Given the description of an element on the screen output the (x, y) to click on. 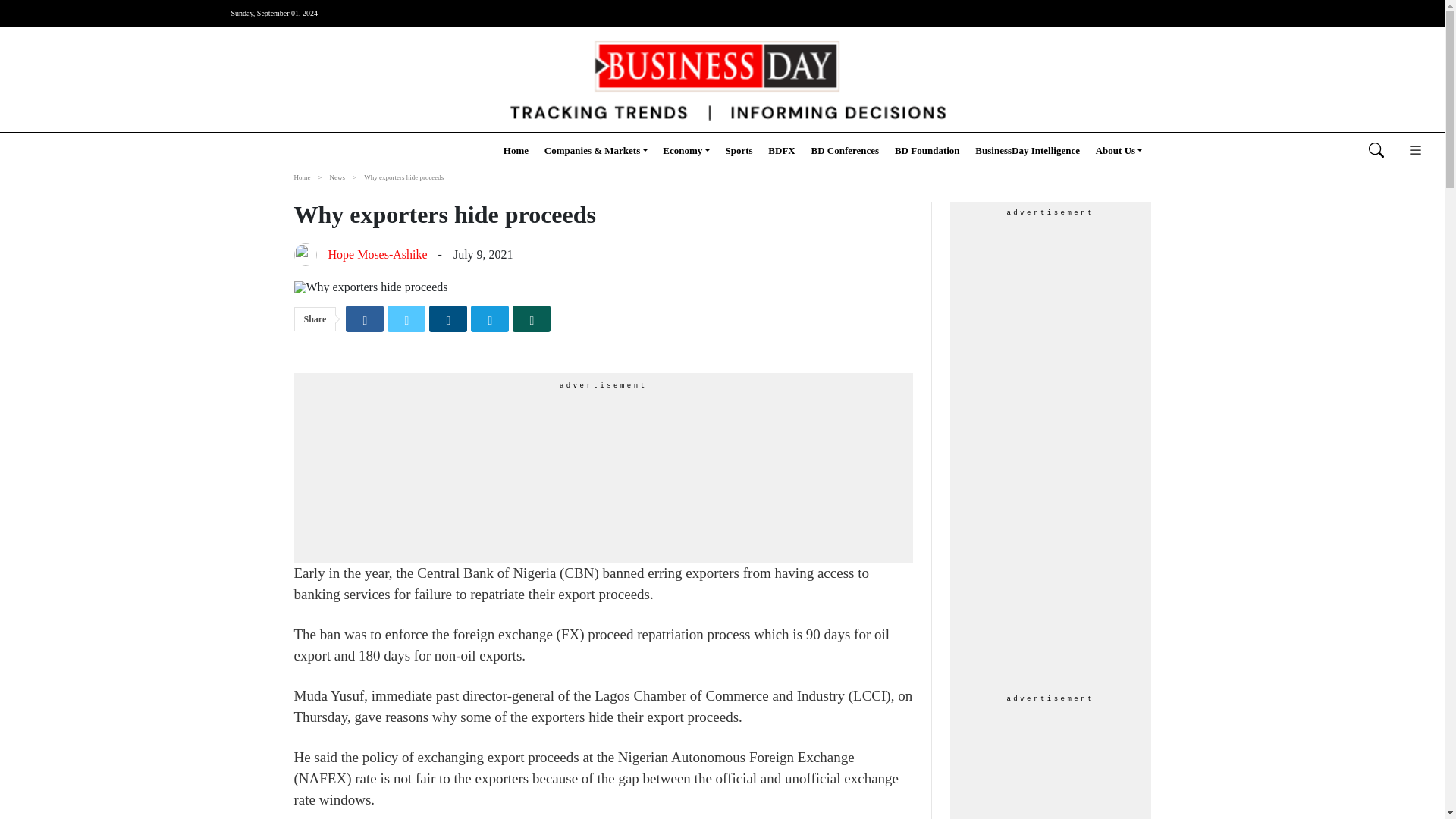
About Us (1119, 149)
BD Foundation (927, 149)
Economy (685, 149)
BD Conferences (844, 149)
BusinessDay Intelligence (1027, 149)
BusinessDay Intelligence (1027, 149)
Economy (685, 149)
About Us (1119, 149)
BD Conferences (844, 149)
BD Foundation (927, 149)
